Given the description of an element on the screen output the (x, y) to click on. 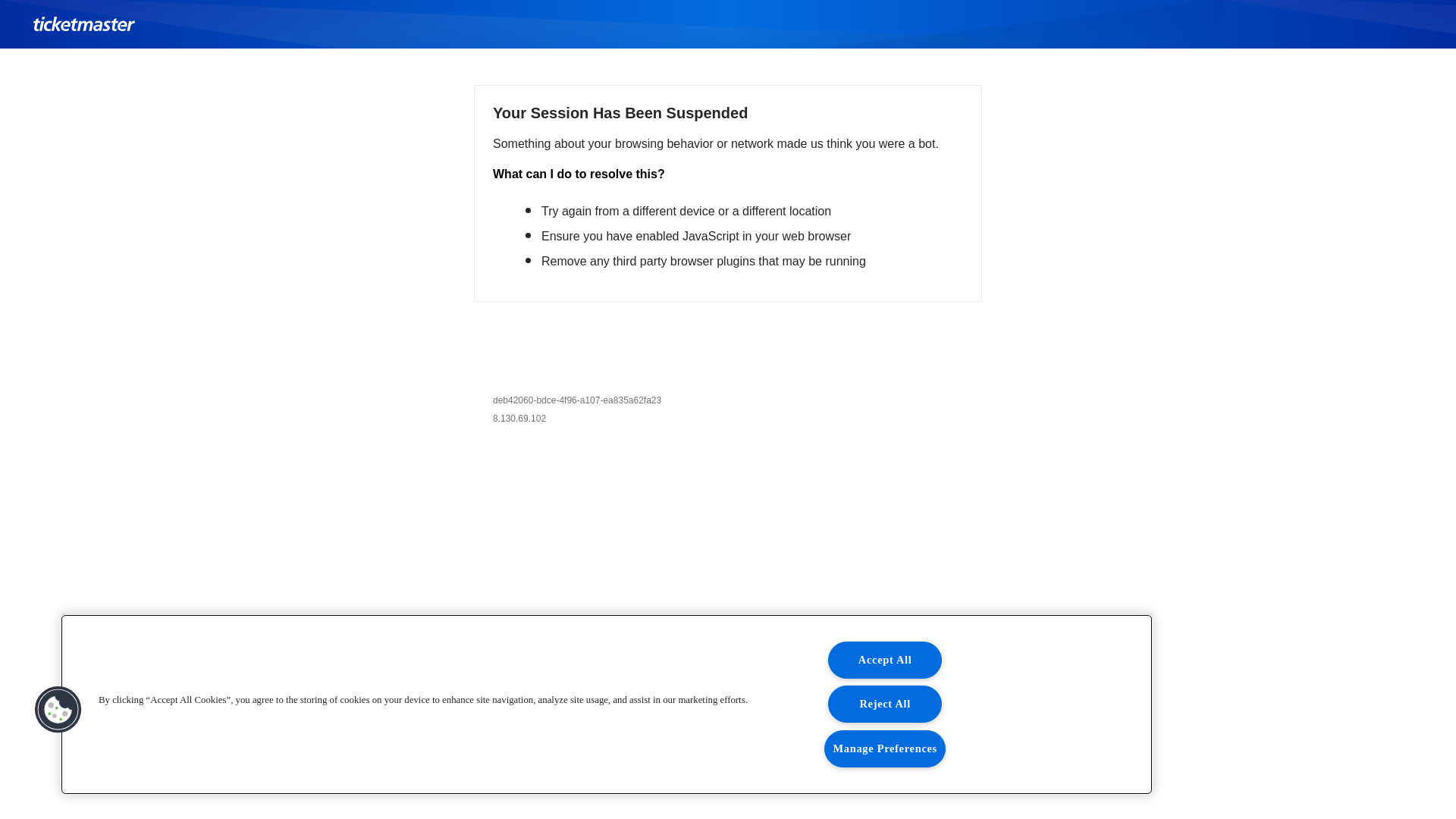
Cookies Button Element type: text (58, 709)
Reject All Element type: text (884, 703)
Manage Preferences Element type: text (884, 748)
Accept All Element type: text (884, 659)
